Given the description of an element on the screen output the (x, y) to click on. 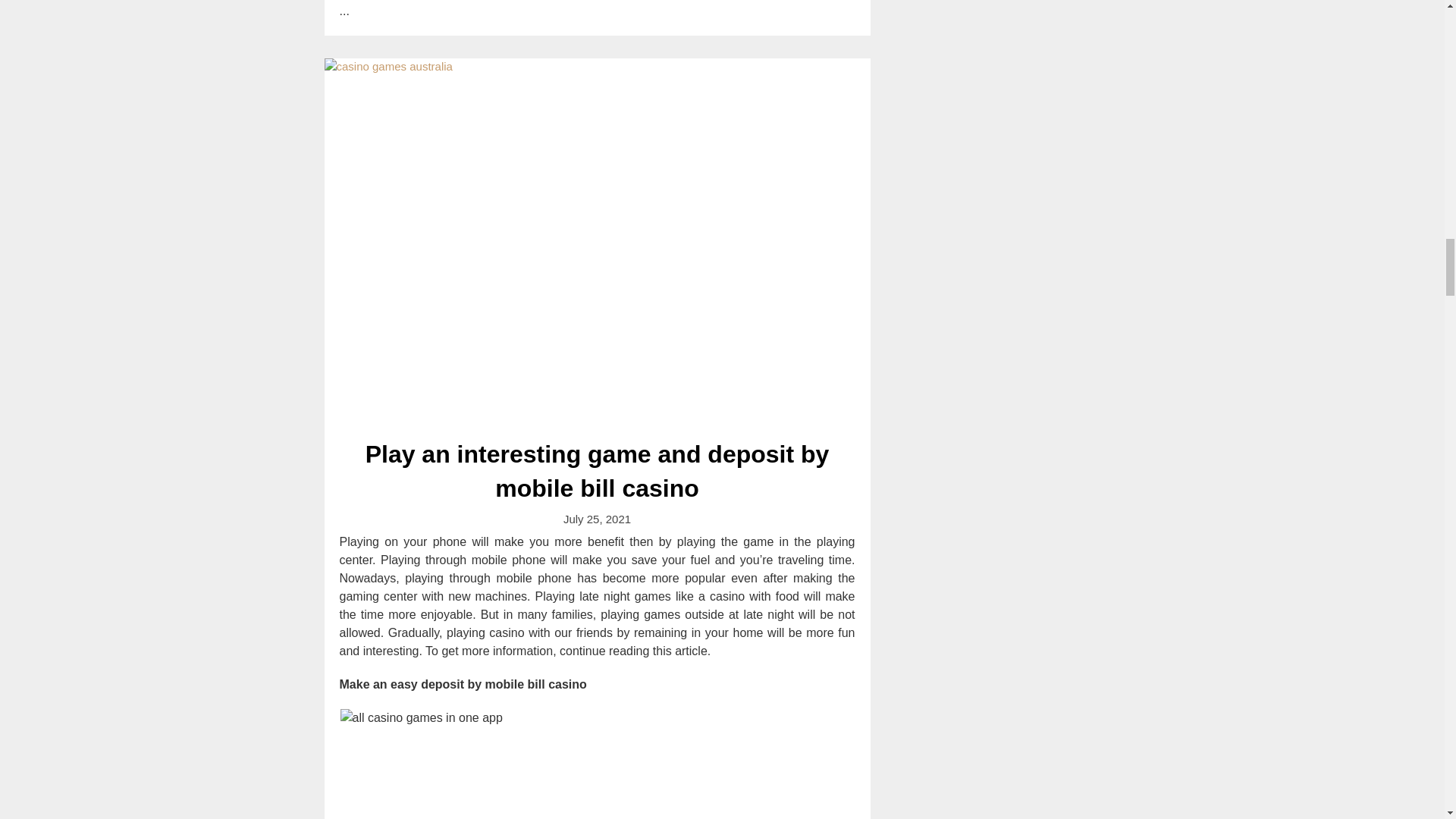
Play an interesting game and deposit by mobile bill casino (597, 471)
Play an interesting game and deposit by mobile bill casino (597, 471)
